Given the description of an element on the screen output the (x, y) to click on. 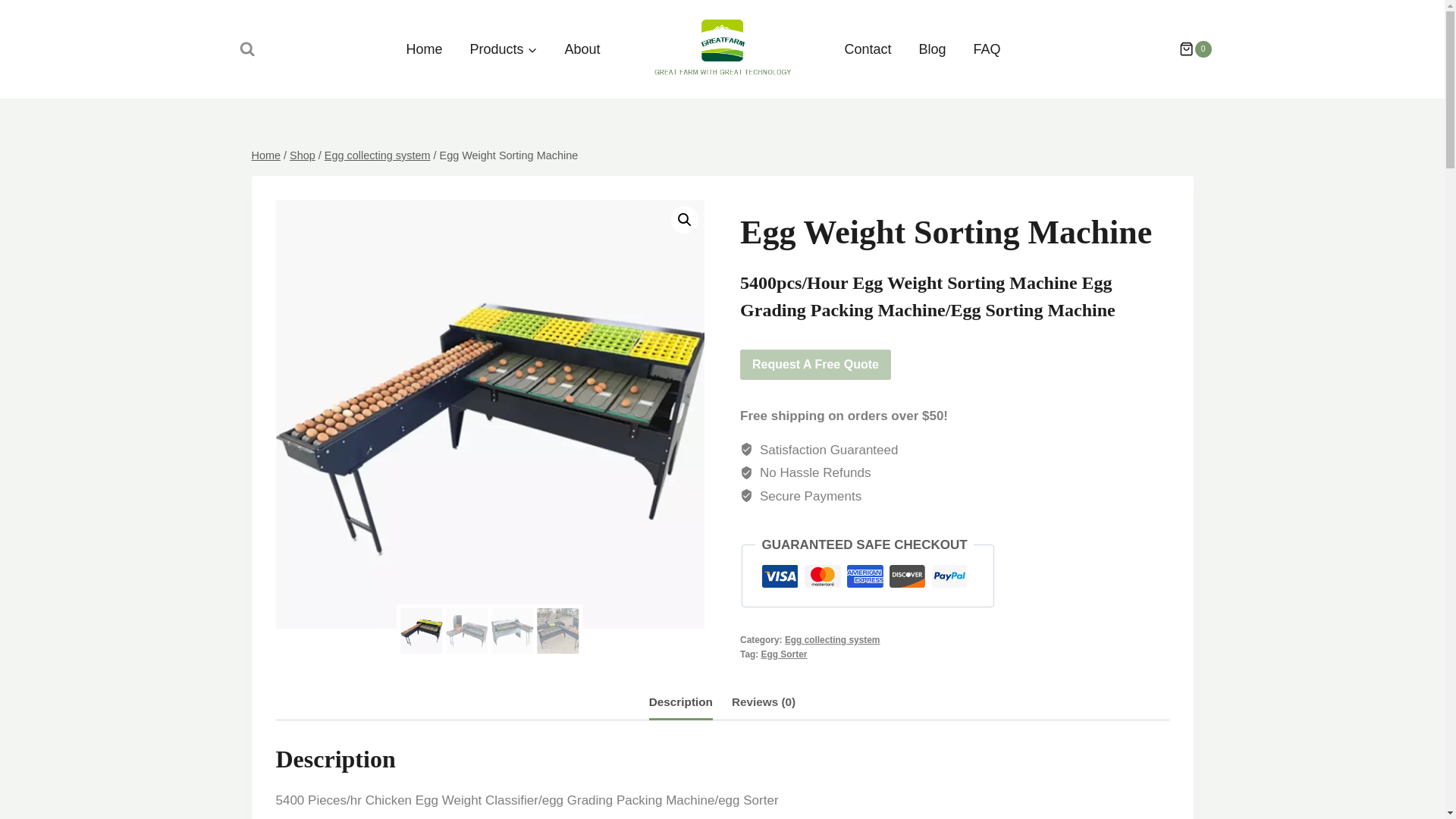
FAQ (986, 48)
Egg Sorter (784, 654)
Shop (302, 155)
About (581, 48)
GreatFarm-Logo.png - China Chicken Cage - Great Farm (722, 46)
0 (1187, 48)
Contact (868, 48)
Egg collecting system (377, 155)
Products (502, 48)
Request A Free Quote (815, 364)
Egg collecting system (832, 639)
Home (423, 48)
Description (681, 702)
Home (266, 155)
